Given the description of an element on the screen output the (x, y) to click on. 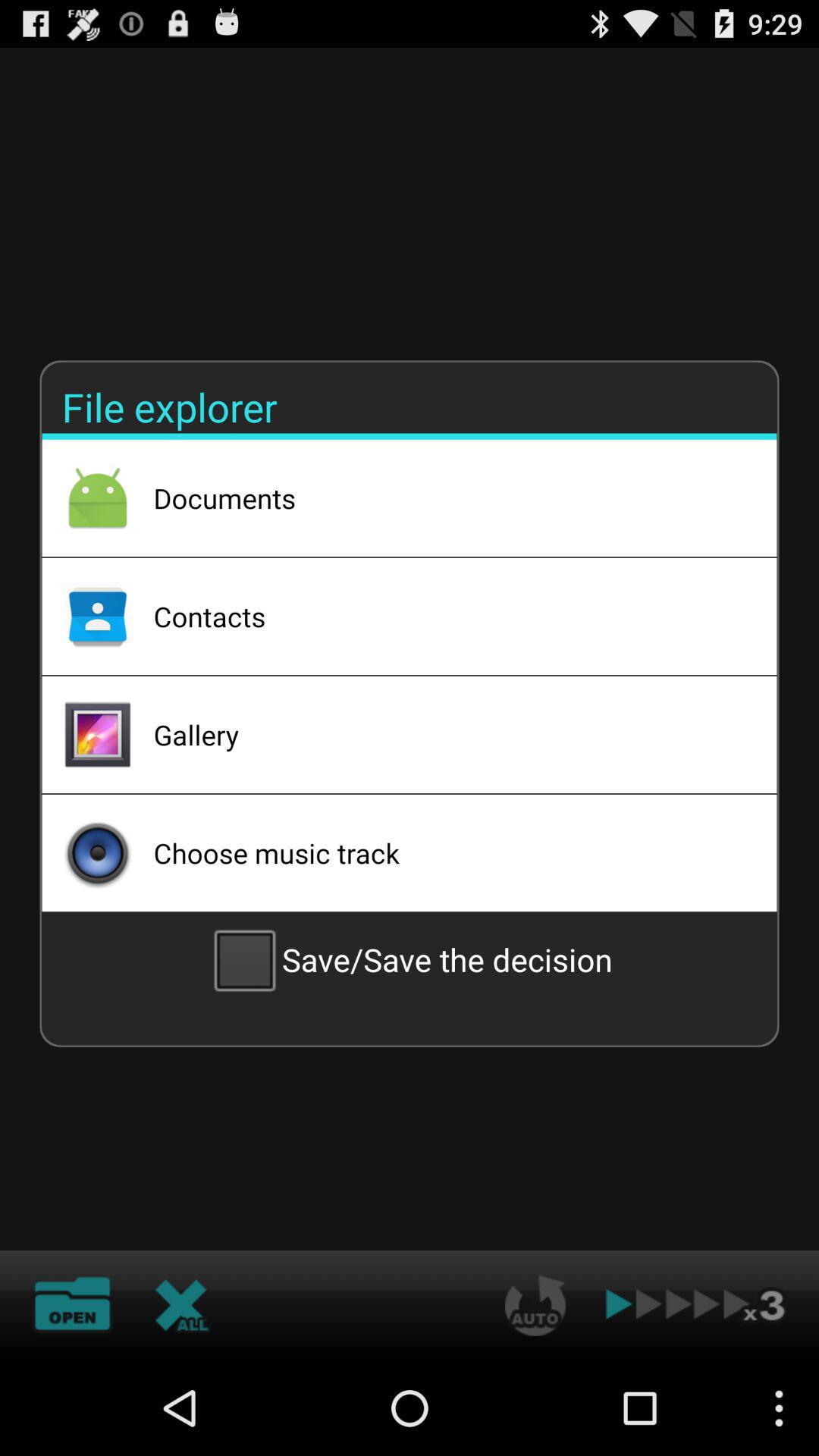
open the app above contacts app (445, 497)
